Given the description of an element on the screen output the (x, y) to click on. 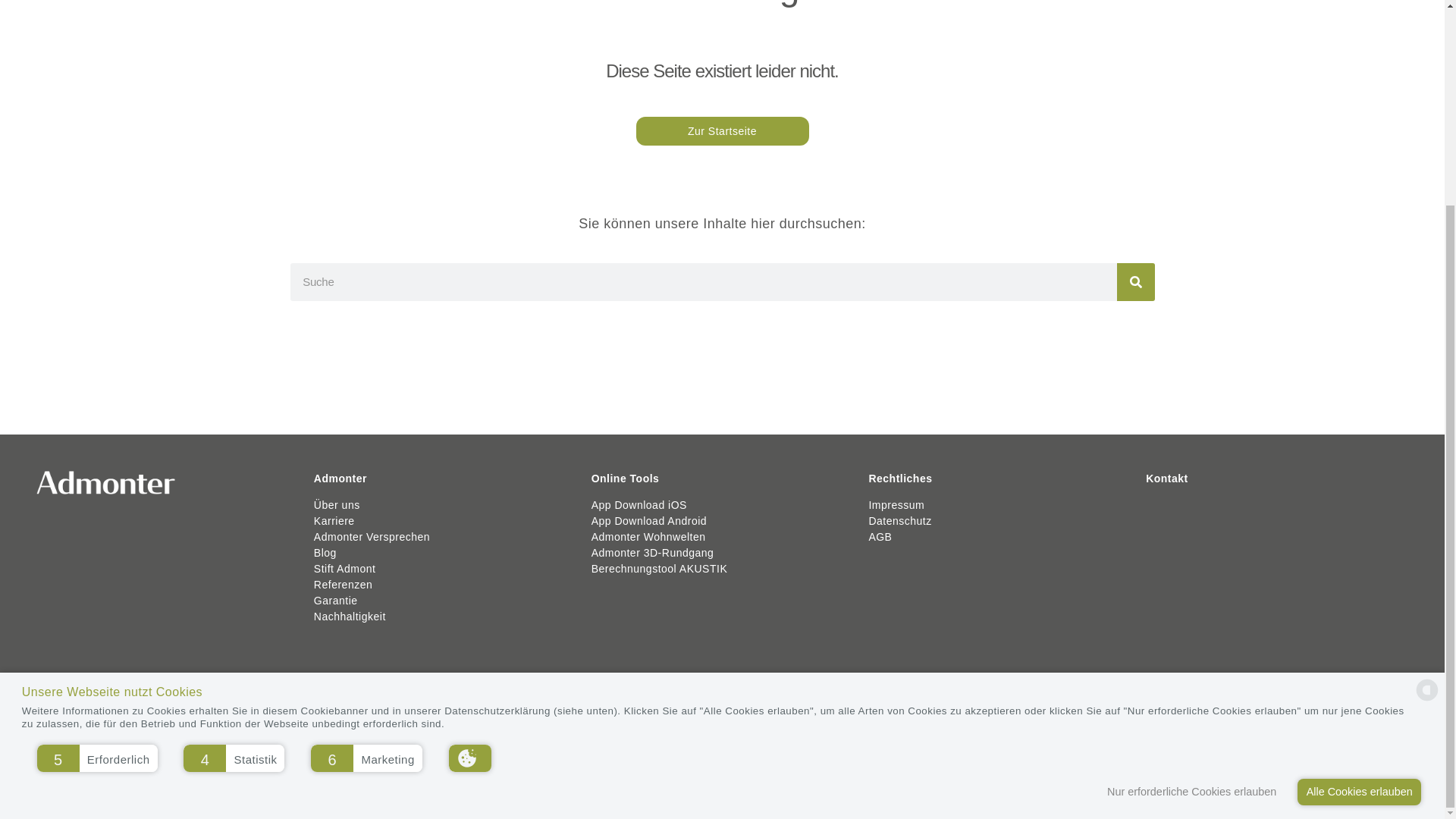
Alle Cookies erlauben (1359, 527)
Nur erforderliche Cookies erlauben (1195, 527)
